Given the description of an element on the screen output the (x, y) to click on. 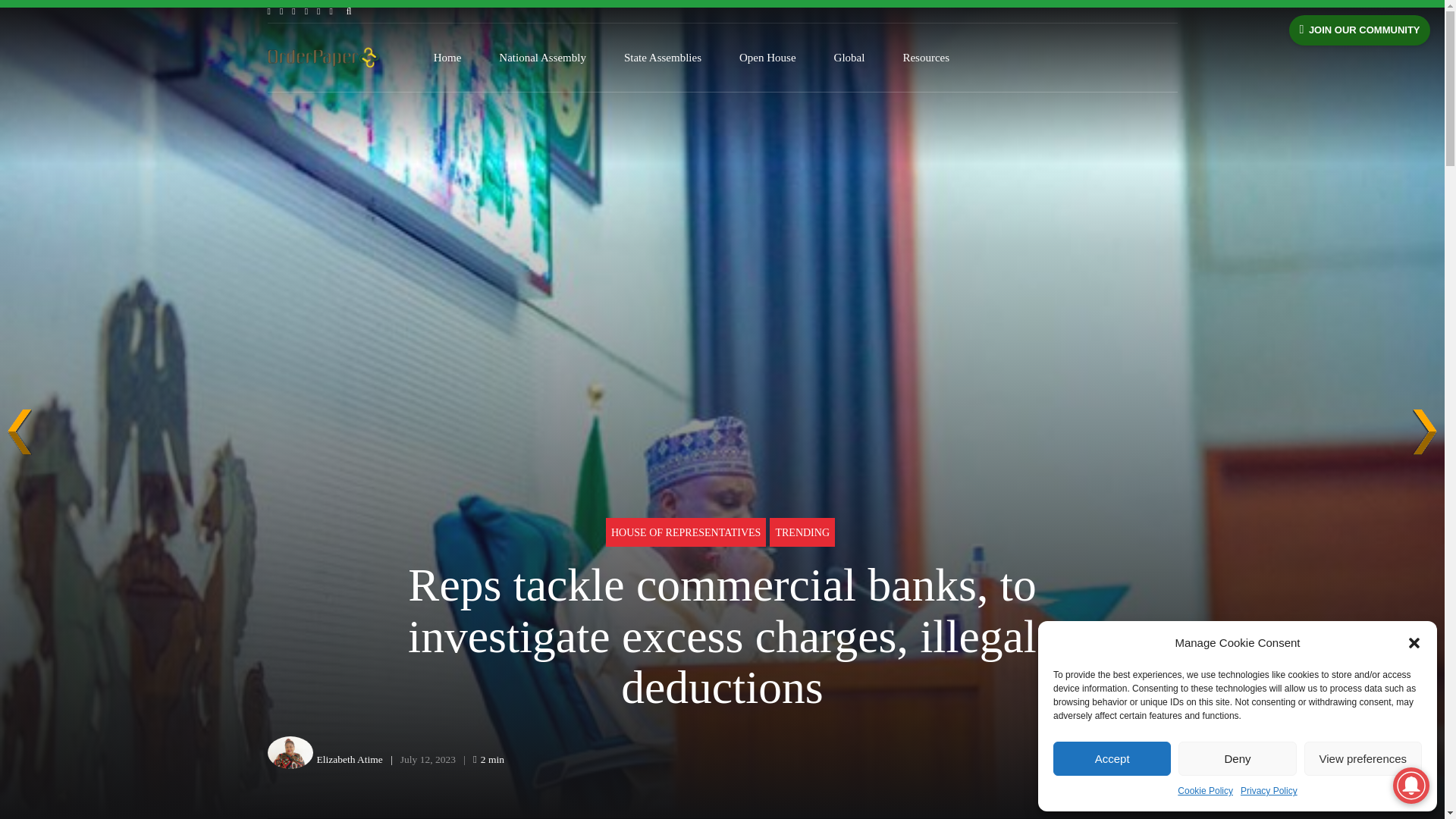
Share on Linkedin (1130, 760)
National Assembly (542, 57)
Accept (1111, 758)
Deny (1236, 758)
State Assemblies (662, 57)
Cookie Policy (1205, 791)
Share on Facebook (1069, 760)
Share on WhatsApp (1162, 760)
Privacy Policy (1268, 791)
View preferences (1363, 758)
Share on Twitter (1100, 760)
